Given the description of an element on the screen output the (x, y) to click on. 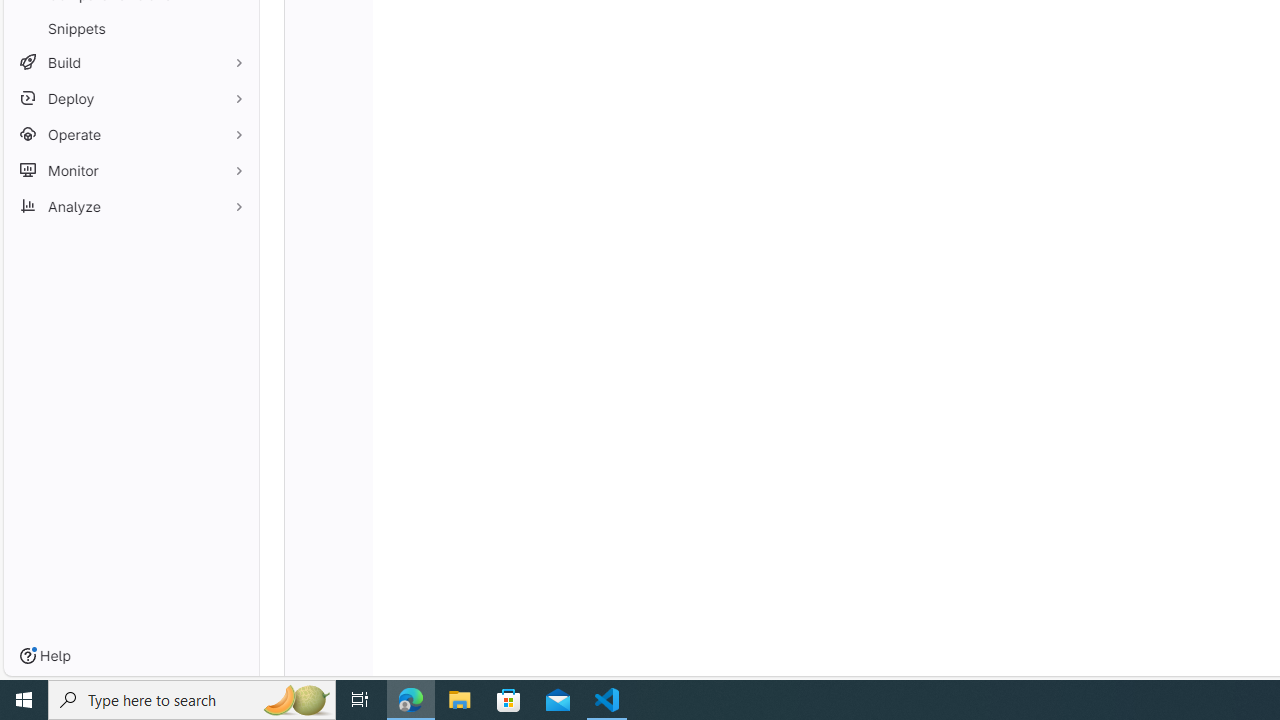
Monitor (130, 170)
Help (45, 655)
Build (130, 62)
Build (130, 62)
Class: old_line diff-line-num empty-cell (328, 667)
Analyze (130, 206)
Snippets (130, 28)
Operate (130, 134)
Monitor (130, 170)
Deploy (130, 98)
Pin Snippets (234, 28)
Operate (130, 134)
Analyze (130, 206)
Deploy (130, 98)
Snippets (130, 28)
